Given the description of an element on the screen output the (x, y) to click on. 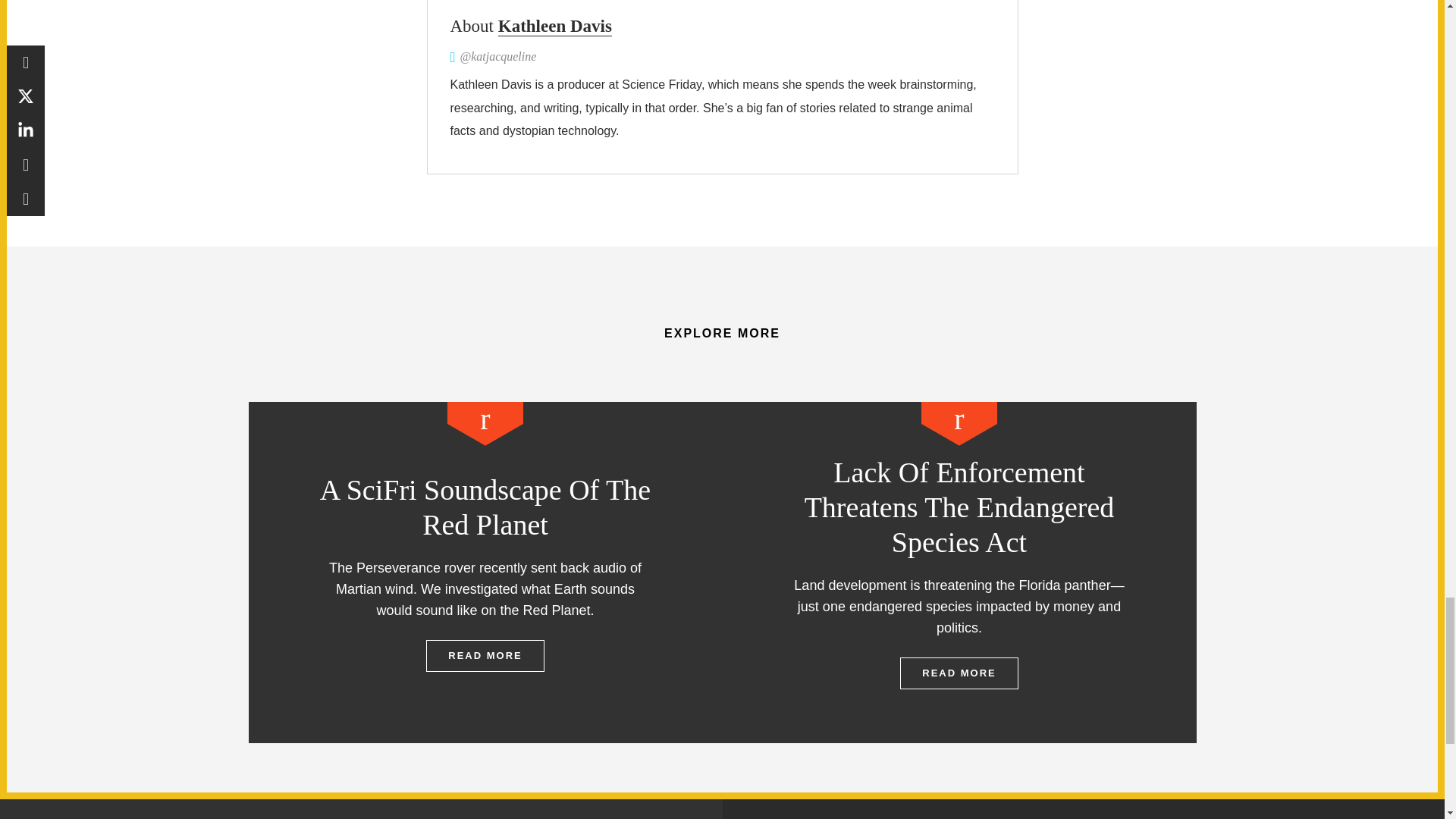
Read More (484, 655)
Segment (484, 423)
